Given the description of an element on the screen output the (x, y) to click on. 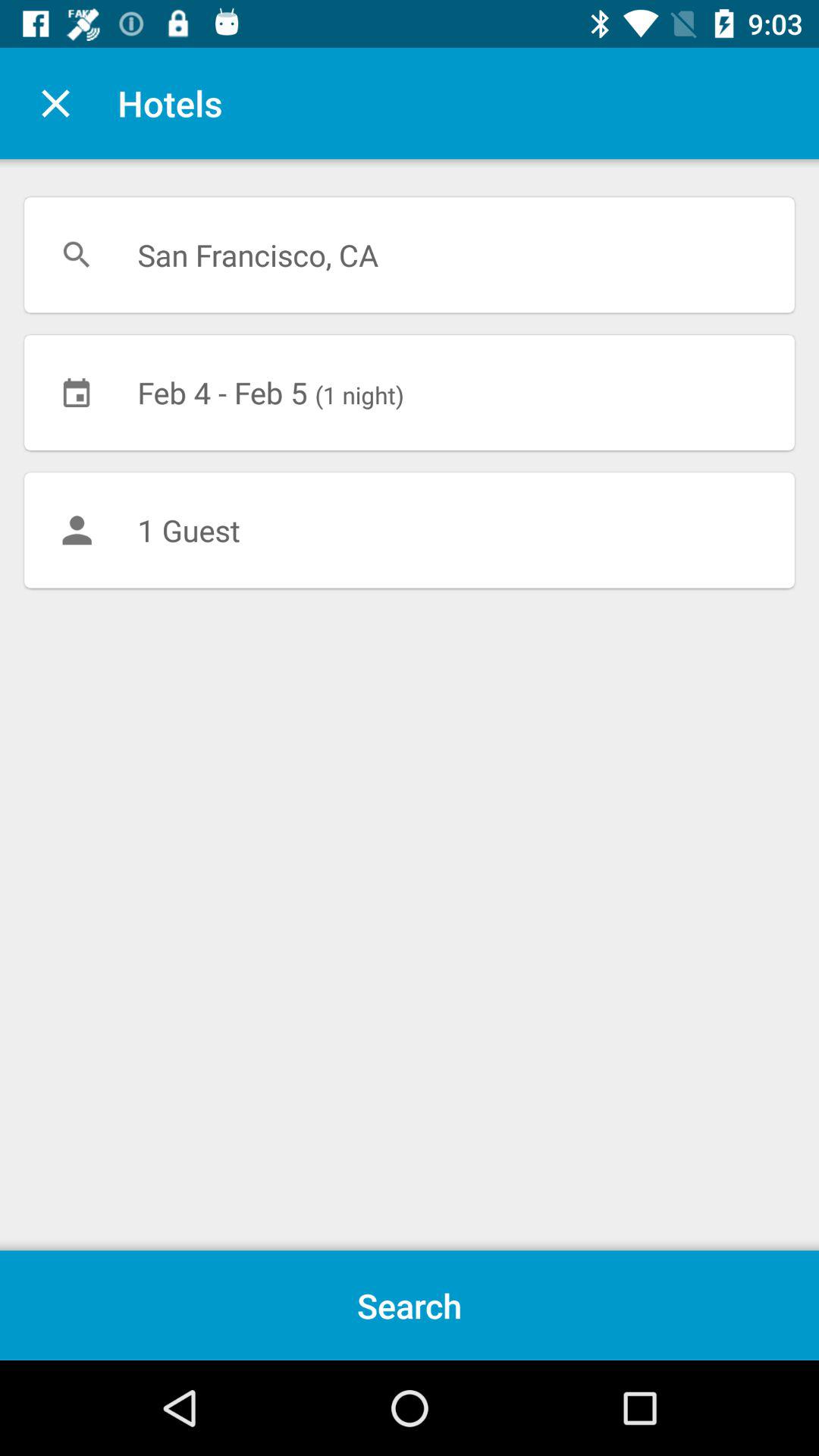
flip until the 1 guest item (409, 530)
